Given the description of an element on the screen output the (x, y) to click on. 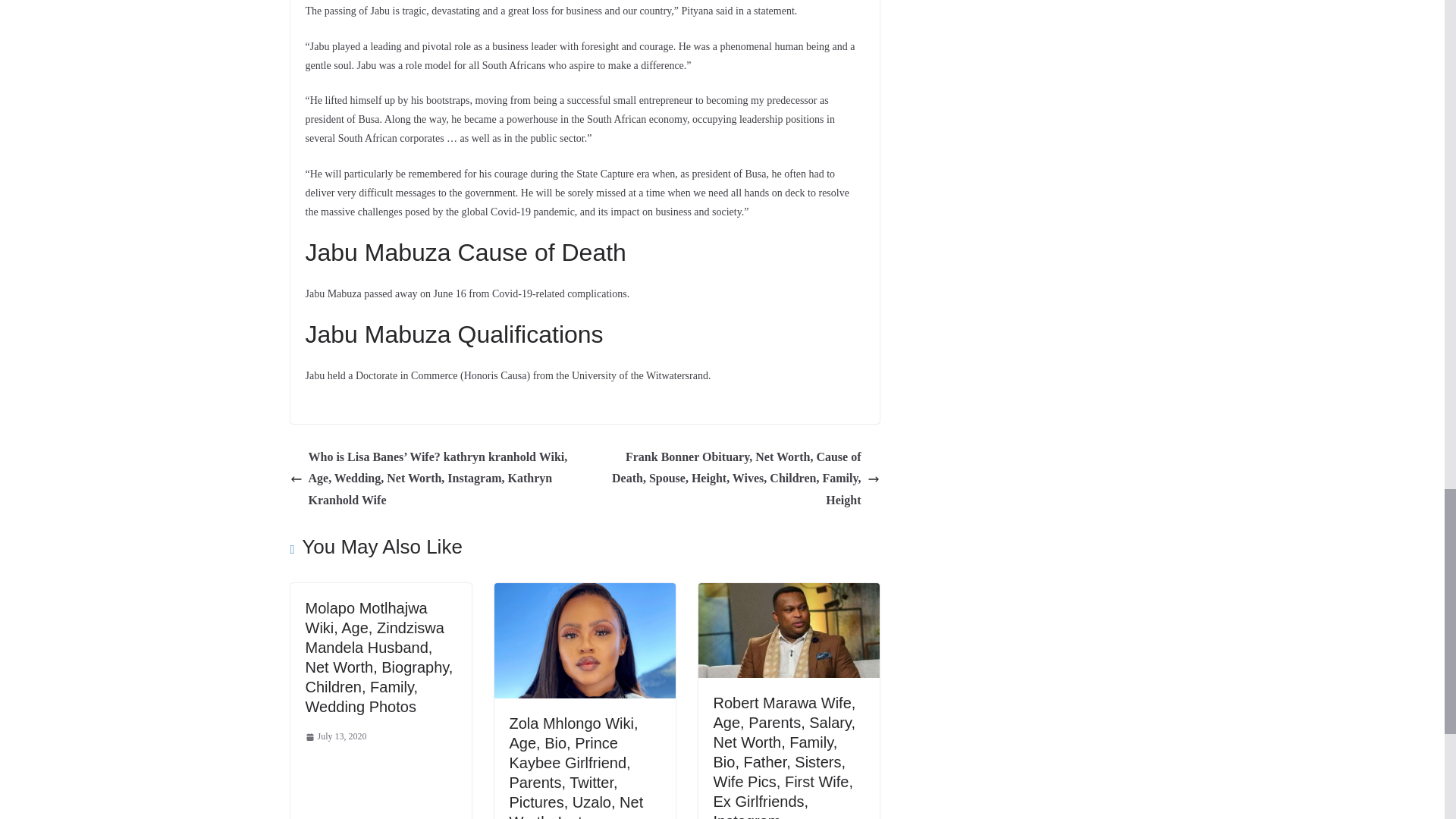
11:44 am (335, 736)
July 13, 2020 (335, 736)
